Given the description of an element on the screen output the (x, y) to click on. 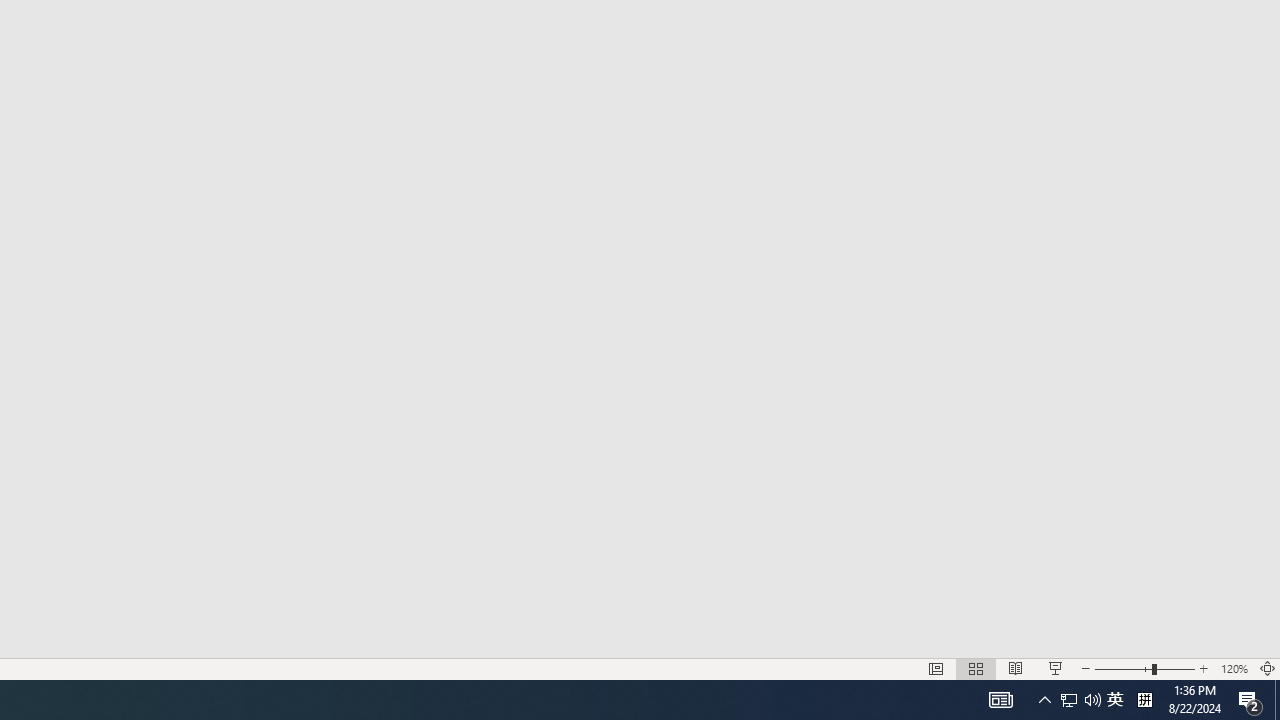
Zoom 120% (1234, 668)
